Given the description of an element on the screen output the (x, y) to click on. 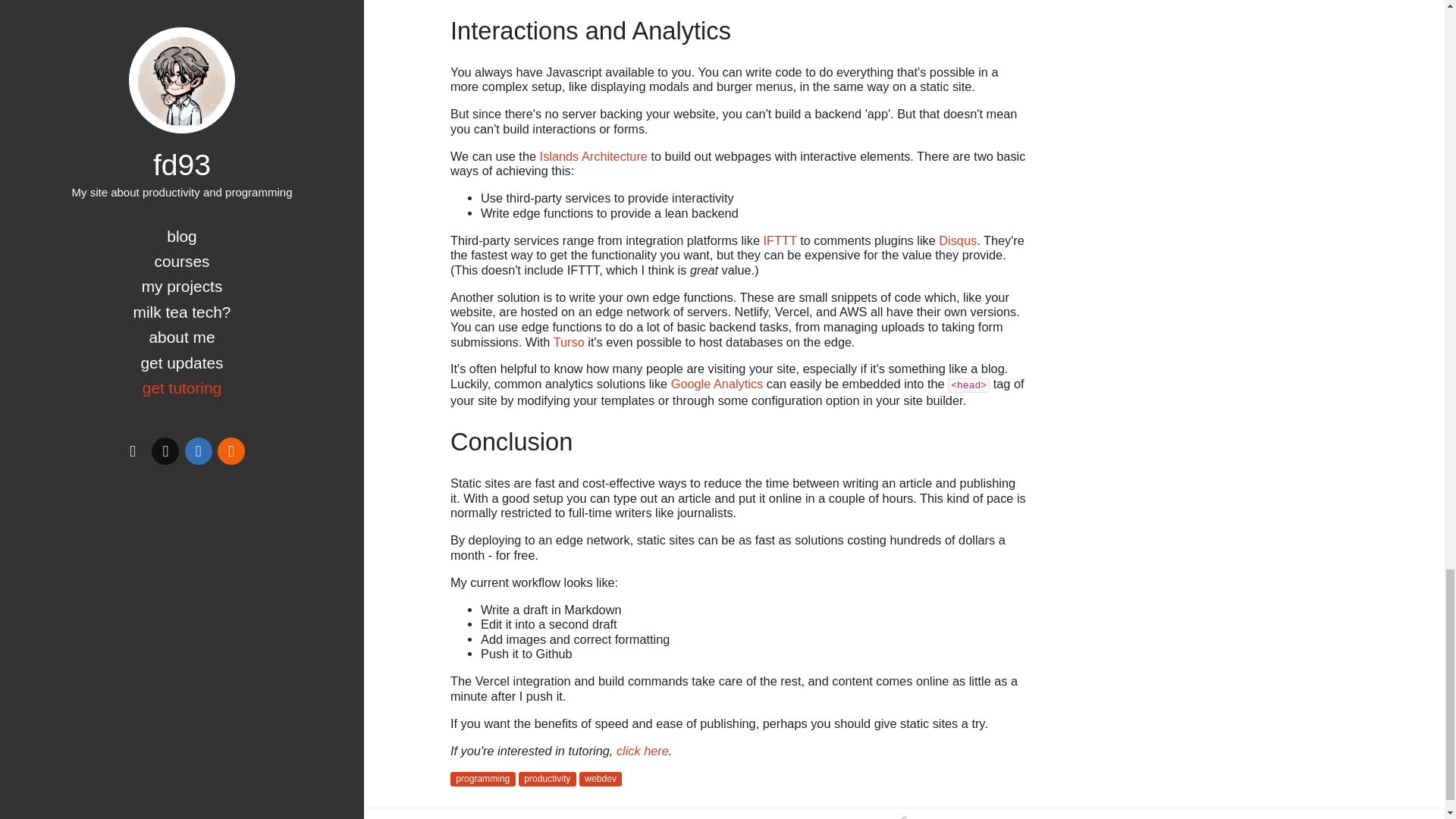
Google Analytics (716, 383)
Disqus (957, 240)
click here (641, 750)
Islands Architecture (593, 155)
IFTTT (779, 240)
programming (482, 779)
Turso (569, 341)
